Given the description of an element on the screen output the (x, y) to click on. 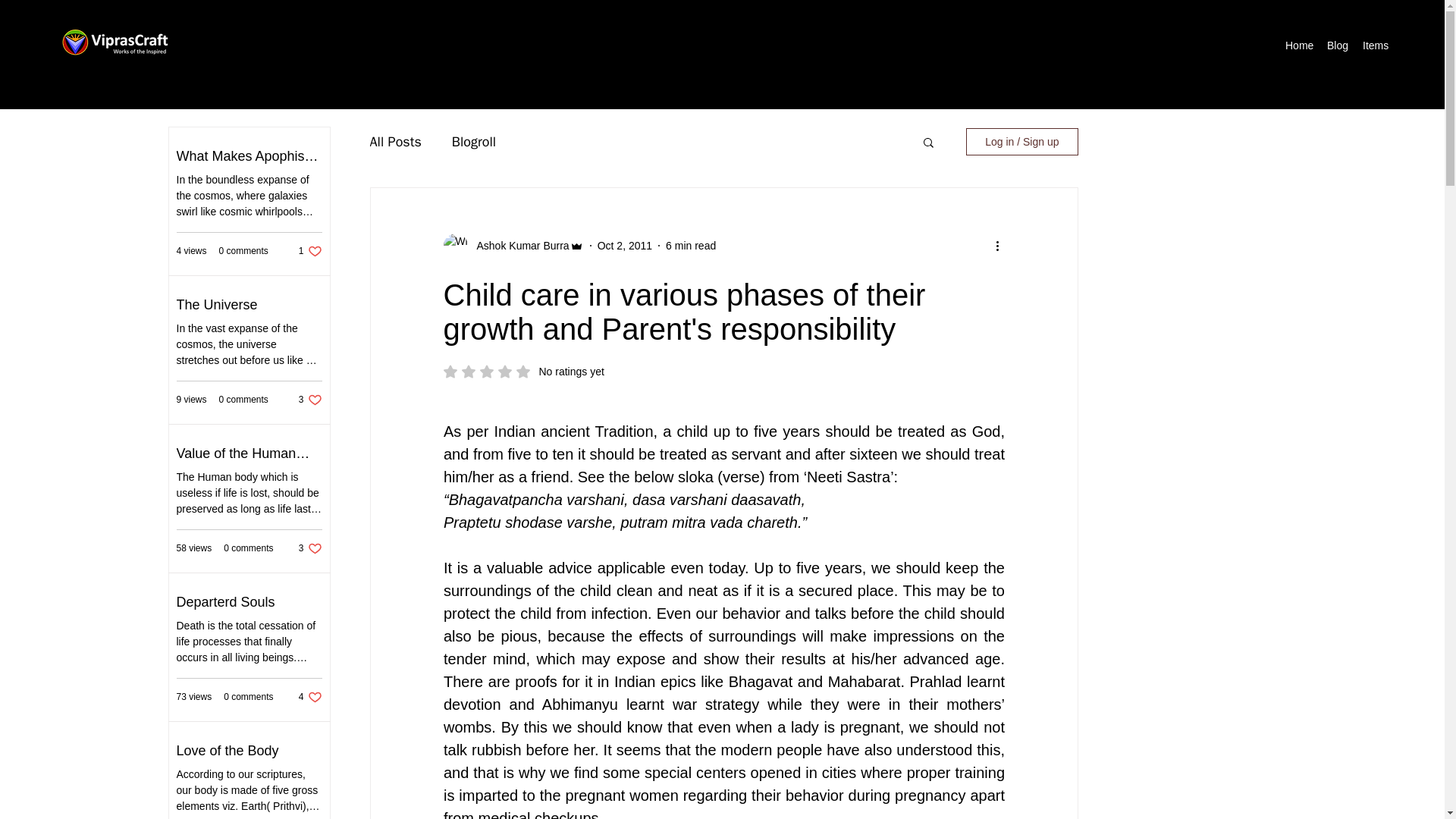
Love of the Body (248, 750)
0 comments (243, 398)
What Makes Apophis a Threat to Earth? (248, 156)
The Universe (248, 304)
Departerd Souls (248, 602)
Home (309, 251)
Items (309, 548)
All Posts (1298, 45)
0 comments (1373, 45)
Oct 2, 2011 (395, 141)
6 min read (243, 250)
